Given the description of an element on the screen output the (x, y) to click on. 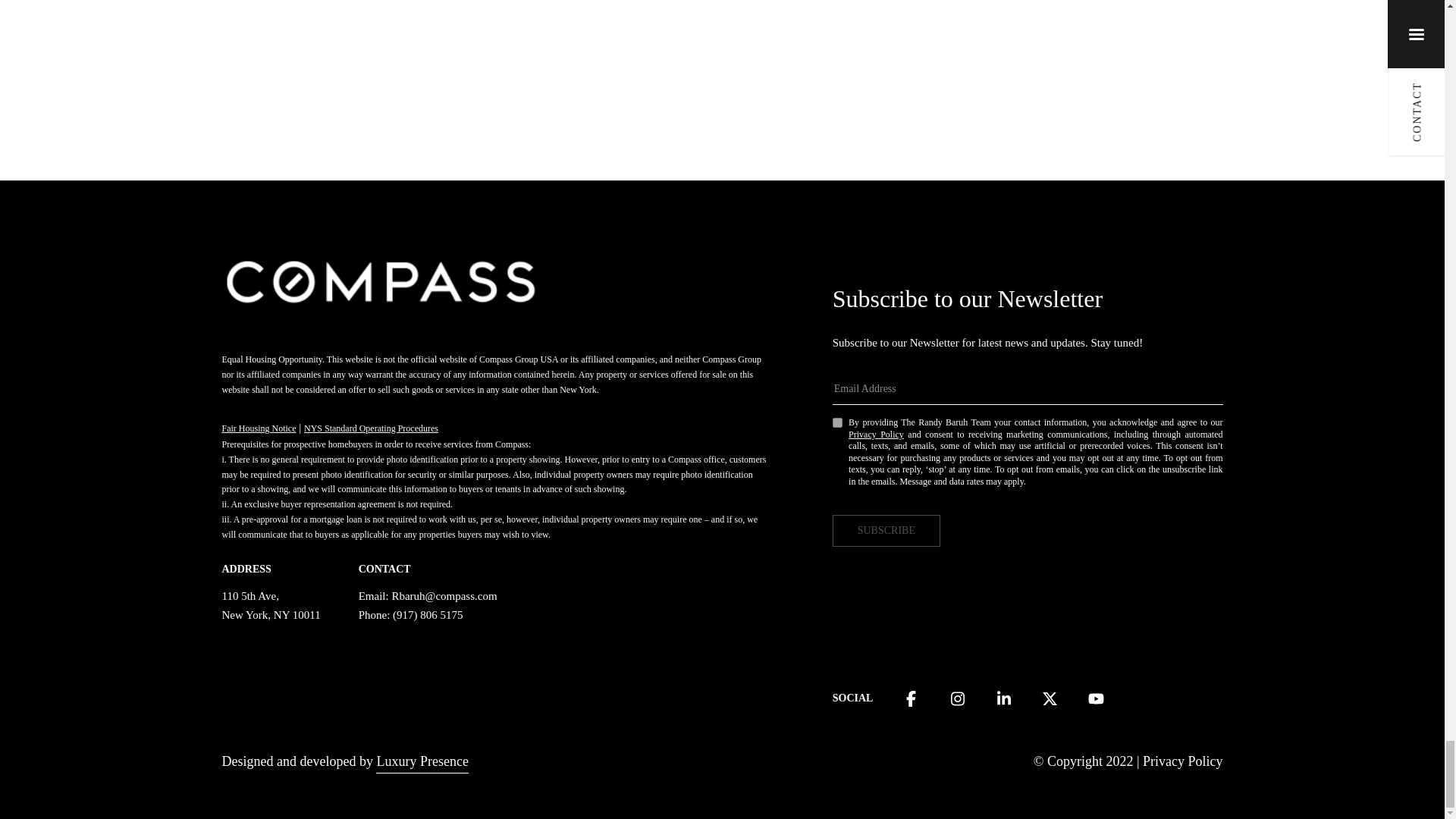
on (837, 422)
Subscribe (886, 531)
